Given the description of an element on the screen output the (x, y) to click on. 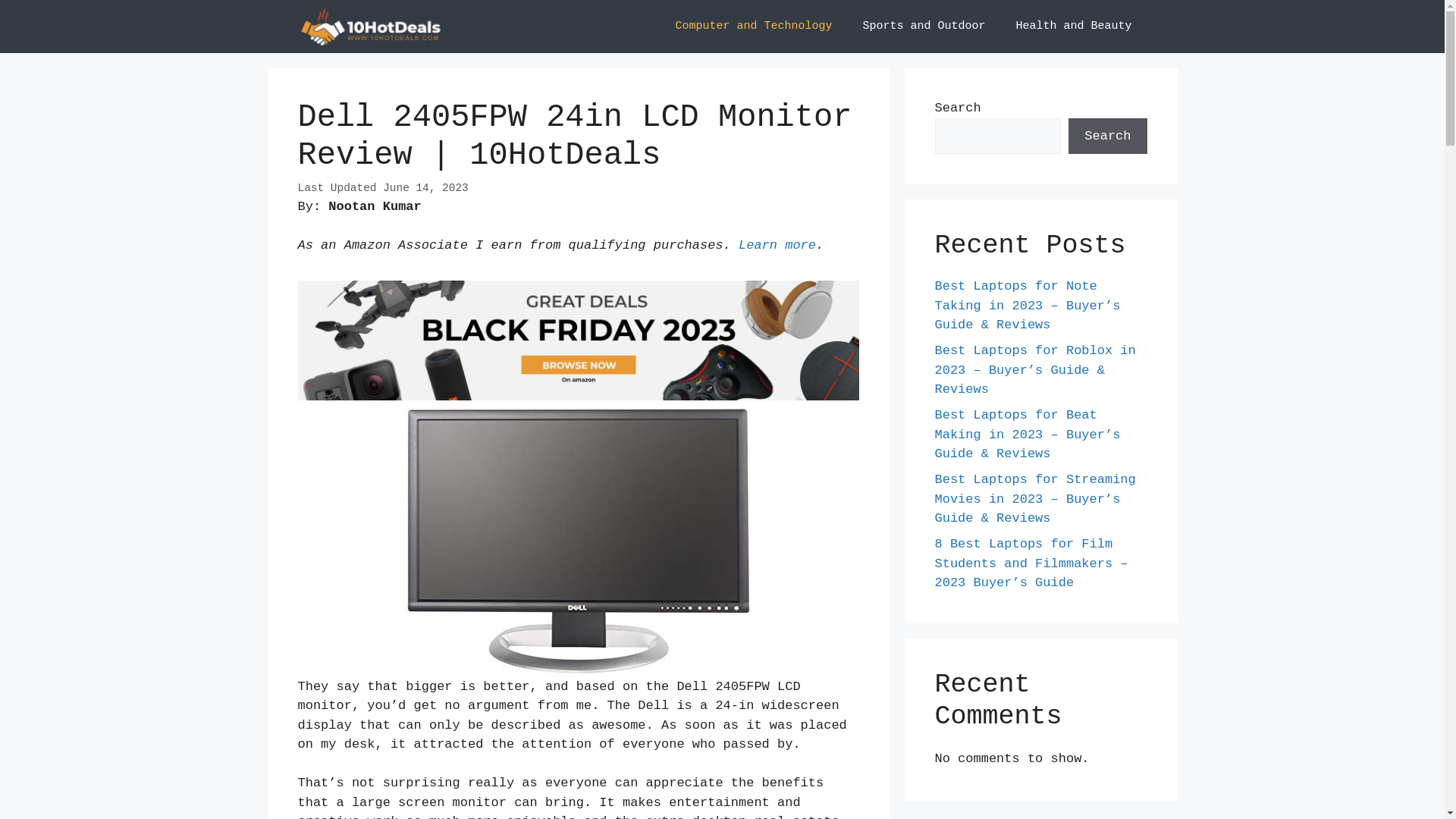
Learn more Element type: text (776, 245)
Health and Beauty Element type: text (1073, 26)
Computer and Technology Element type: text (753, 26)
Search Element type: text (1107, 136)
Sports and Outdoor Element type: text (923, 26)
